Given the description of an element on the screen output the (x, y) to click on. 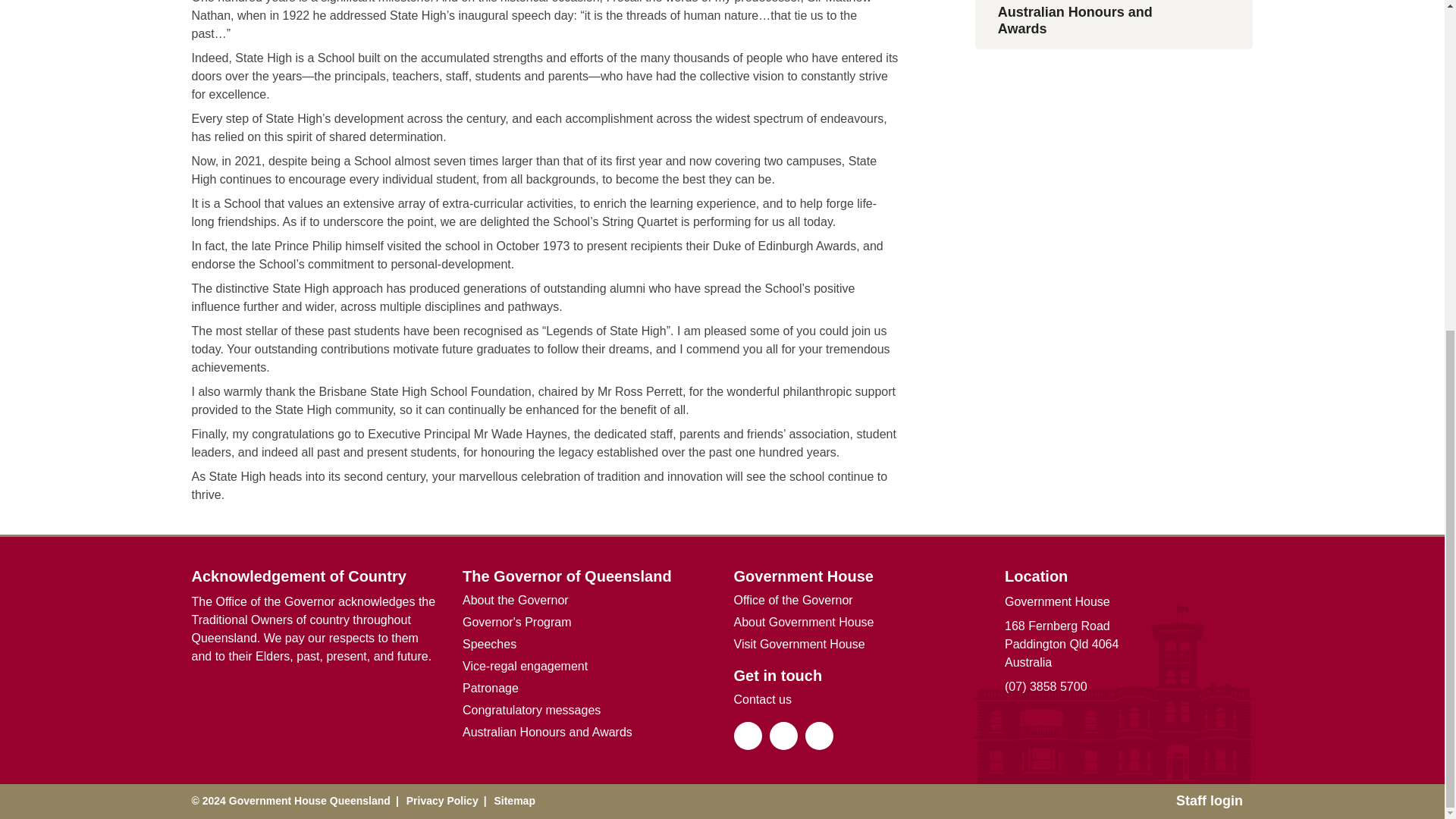
Speeches (489, 644)
Vice-regal engagement (525, 666)
Governor's Program (517, 621)
About the Governor (516, 599)
Australian Honours and Awards (1114, 24)
